Given the description of an element on the screen output the (x, y) to click on. 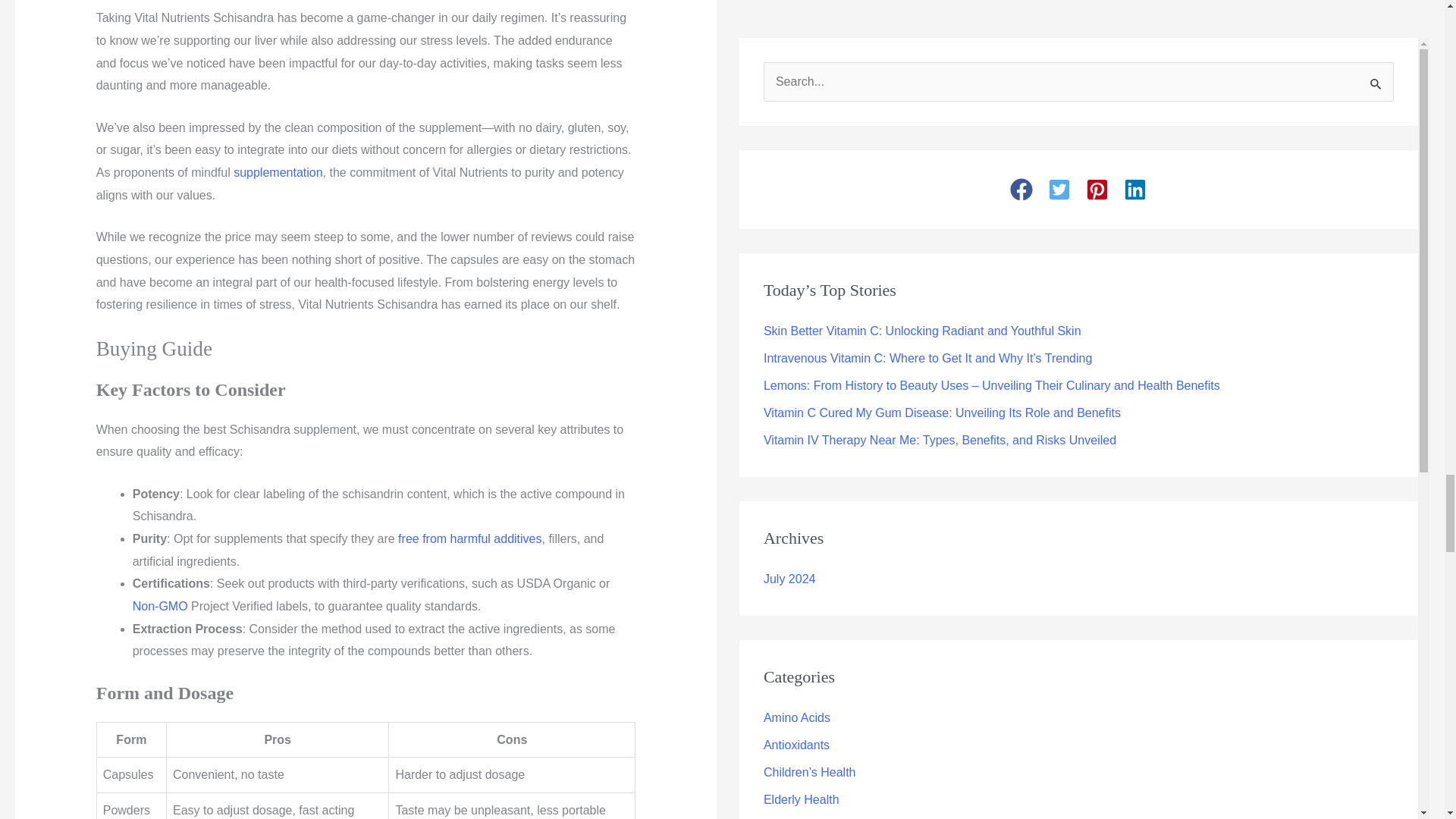
free from harmful additives (469, 538)
supplementation (276, 172)
Non-GMO (159, 605)
